Given the description of an element on the screen output the (x, y) to click on. 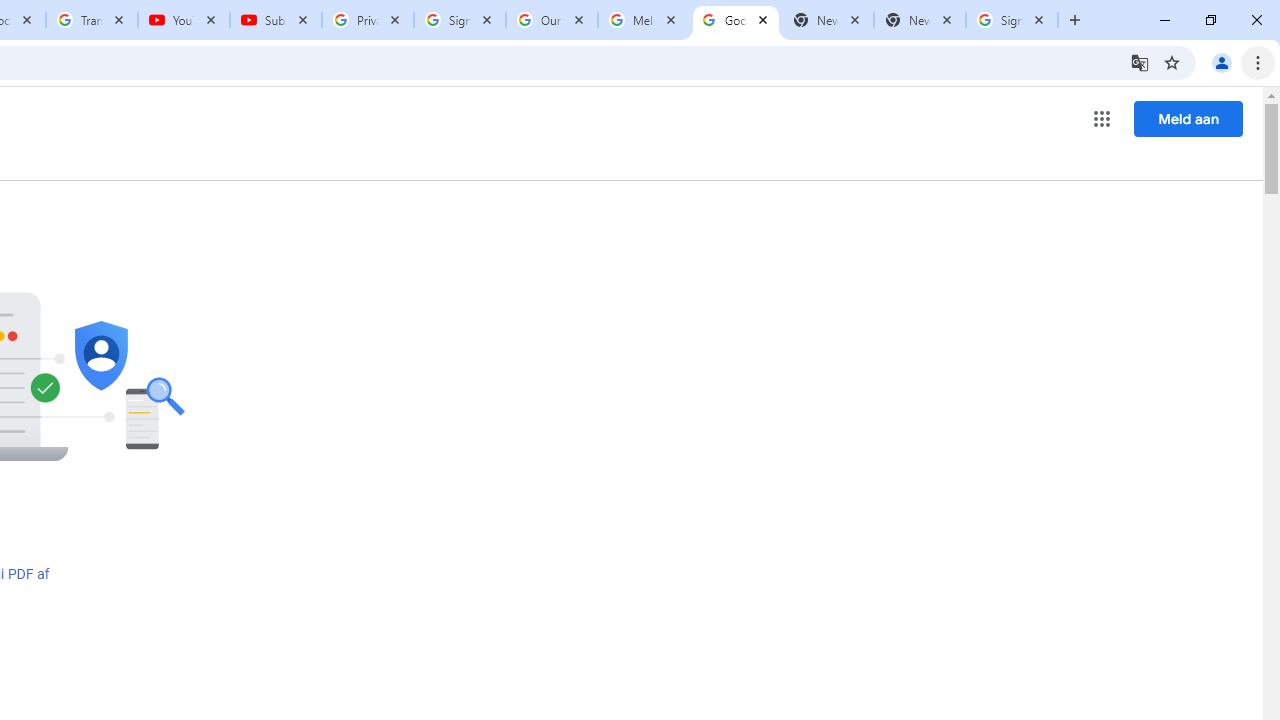
Subscriptions - YouTube (276, 20)
Translate this page (1139, 62)
New Tab (920, 20)
Meld aan (1188, 118)
YouTube (184, 20)
Sign in - Google Accounts (459, 20)
Sign in - Google Accounts (1012, 20)
